Given the description of an element on the screen output the (x, y) to click on. 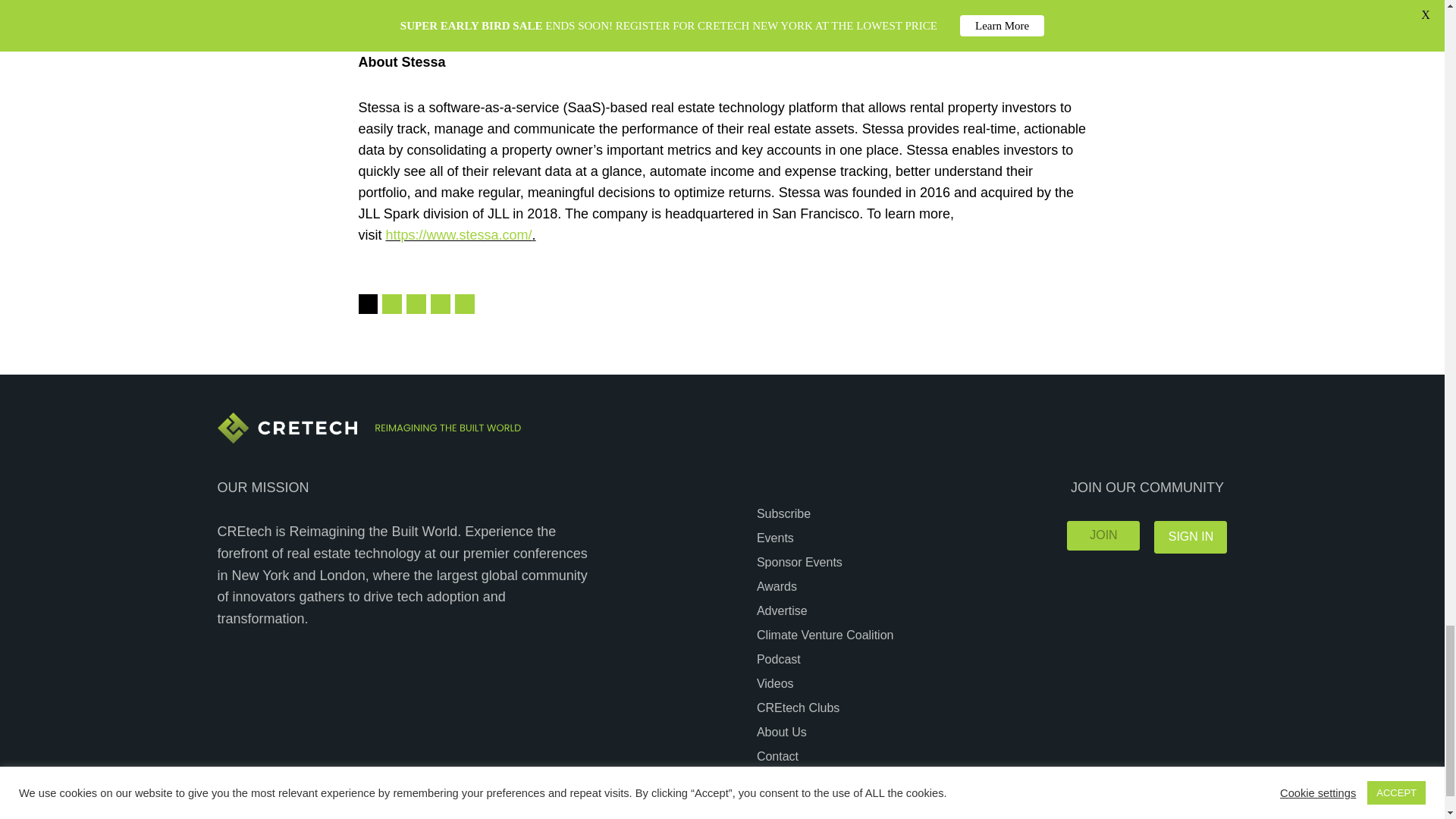
CREtech Clubs (800, 707)
Advertise (783, 610)
Videos (776, 683)
email (439, 303)
Contact (779, 756)
Podcast (781, 659)
Events (777, 537)
About Us (783, 731)
facebook (391, 303)
Subscribe (785, 513)
Sponsor Events (801, 562)
twitter (416, 303)
Climate Venture Coalition (826, 634)
linkedin (464, 303)
Awards (778, 586)
